Given the description of an element on the screen output the (x, y) to click on. 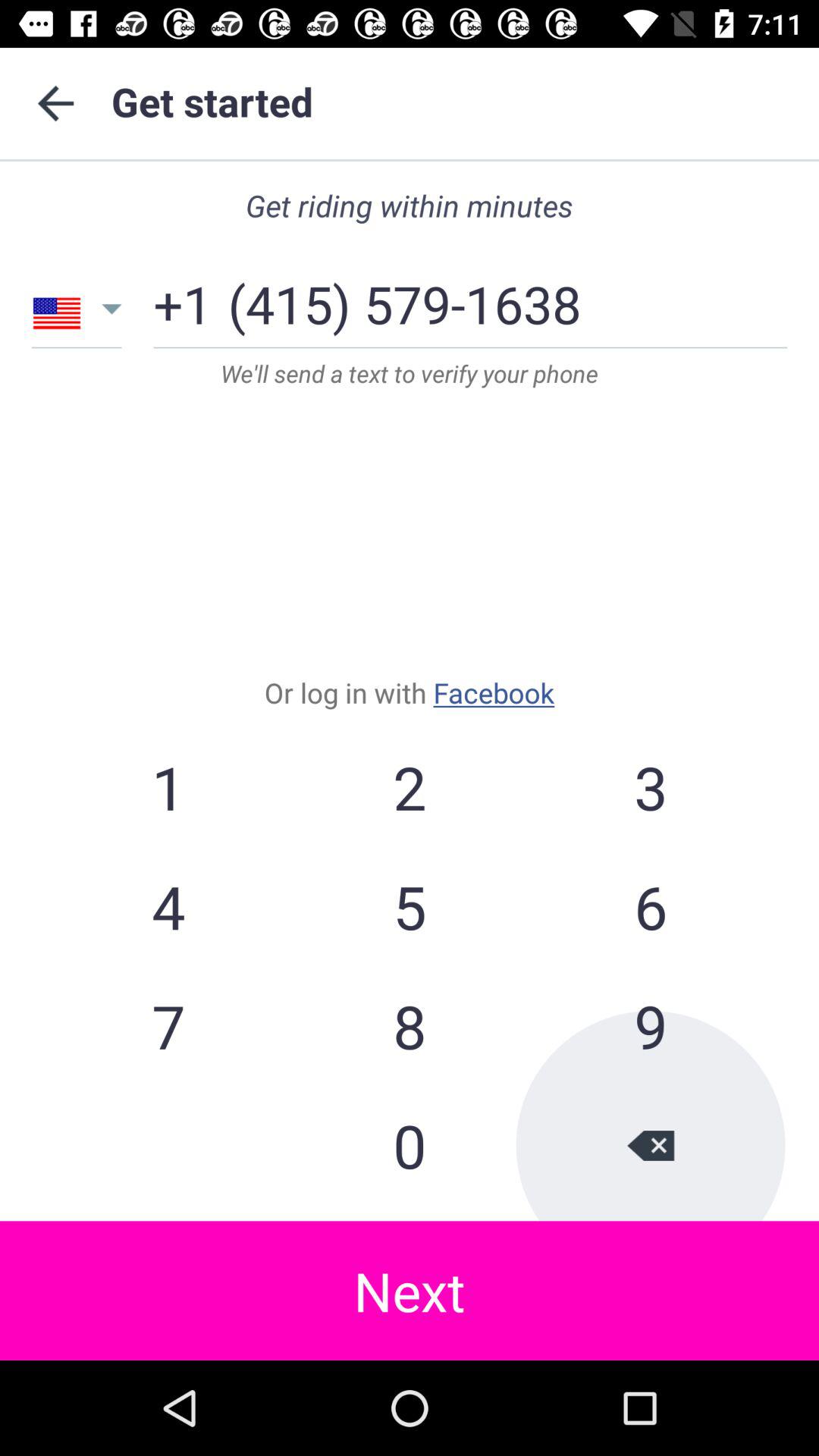
select the 6 item (650, 906)
